Given the description of an element on the screen output the (x, y) to click on. 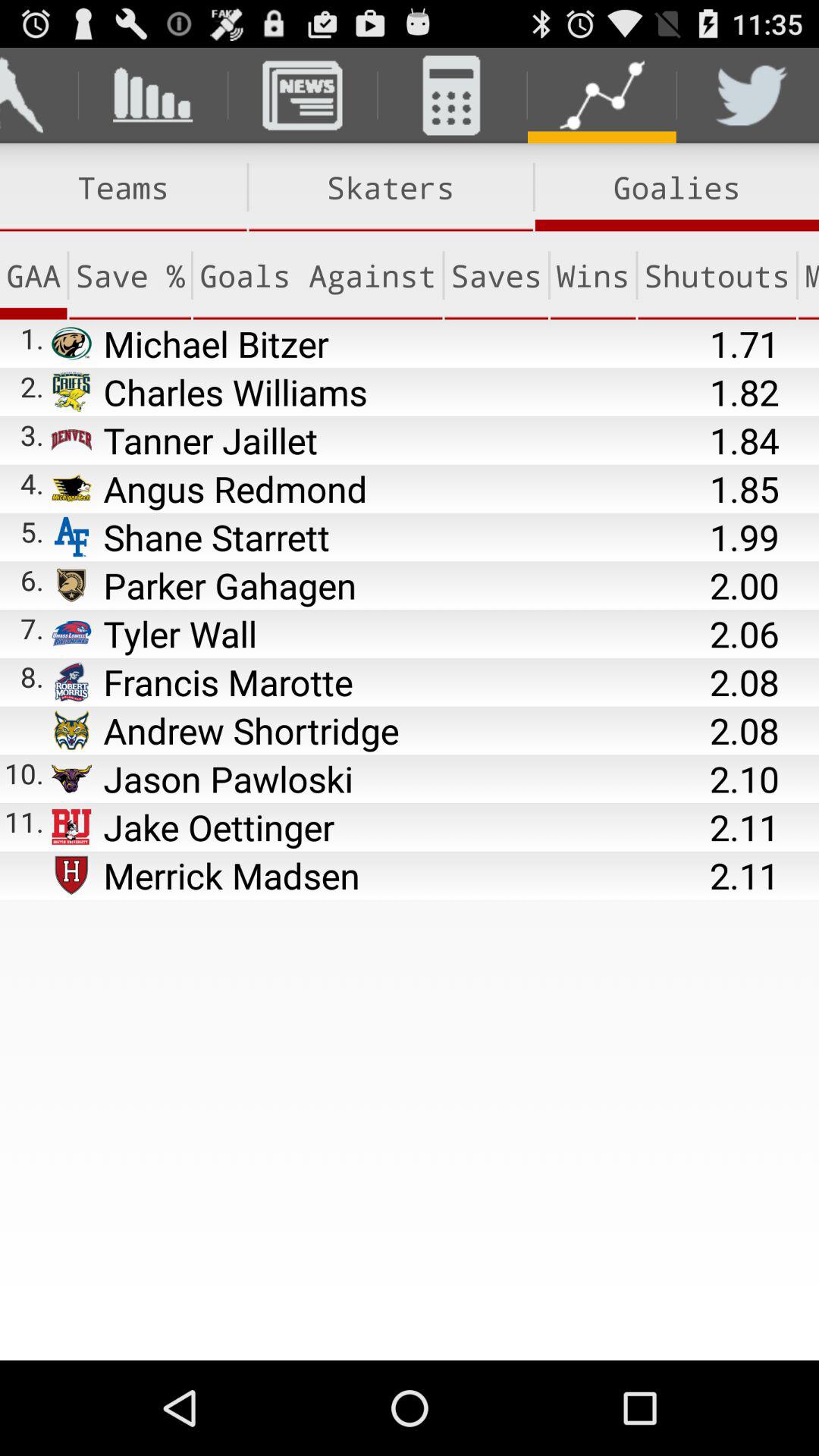
click the item next to the skaters item (123, 187)
